Given the description of an element on the screen output the (x, y) to click on. 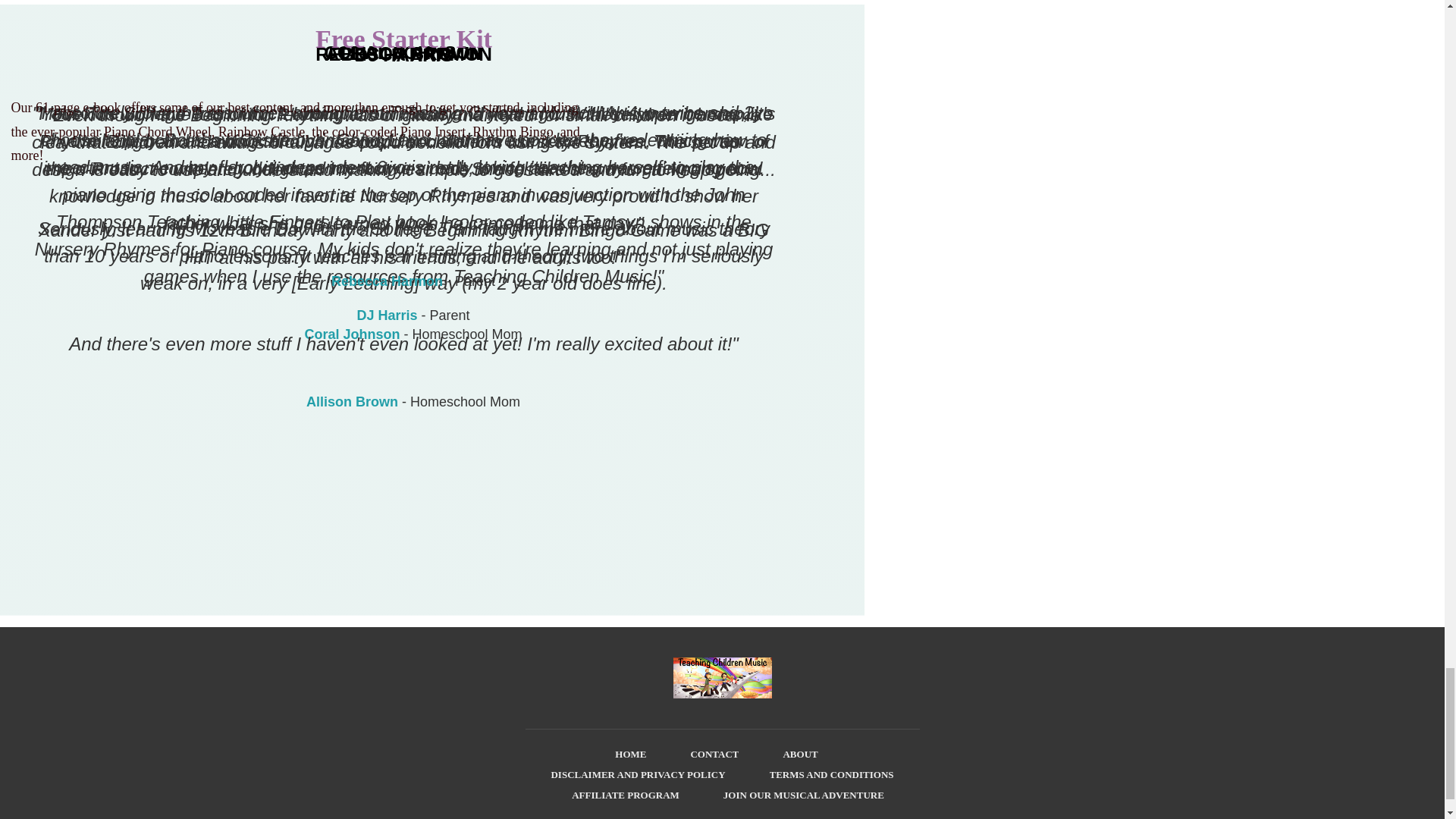
TERMS AND CONDITIONS (831, 774)
CONTACT (714, 754)
HOME (630, 754)
DISCLAIMER AND PRIVACY POLICY (637, 774)
JOIN OUR MUSICAL ADVENTURE (803, 795)
AFFILIATE PROGRAM (625, 795)
ABOUT (799, 754)
